Given the description of an element on the screen output the (x, y) to click on. 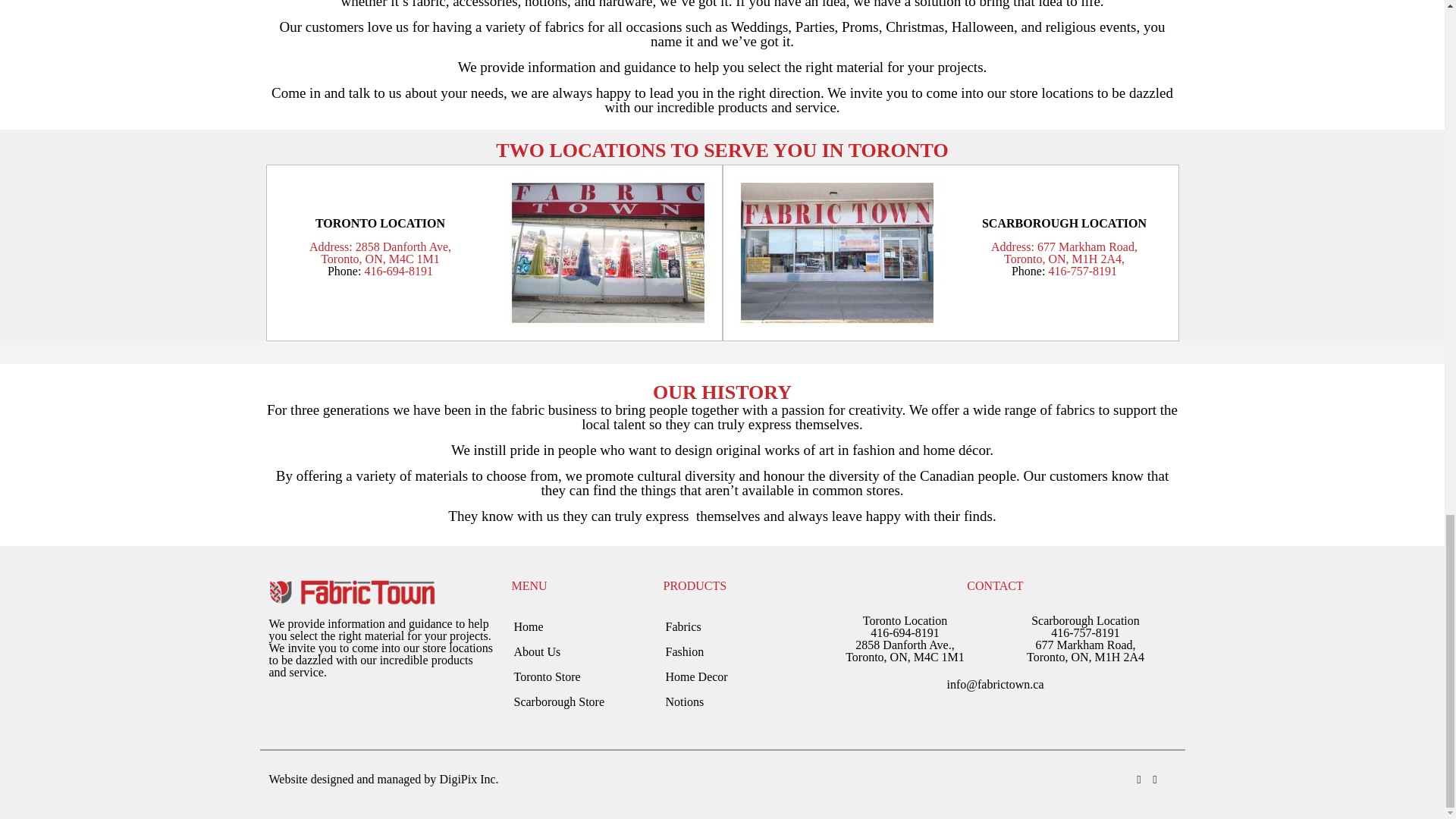
Fabric Town Email (994, 684)
Facebook (1155, 779)
DigiPix Inc. (468, 779)
Instagram (1138, 779)
